Given the description of an element on the screen output the (x, y) to click on. 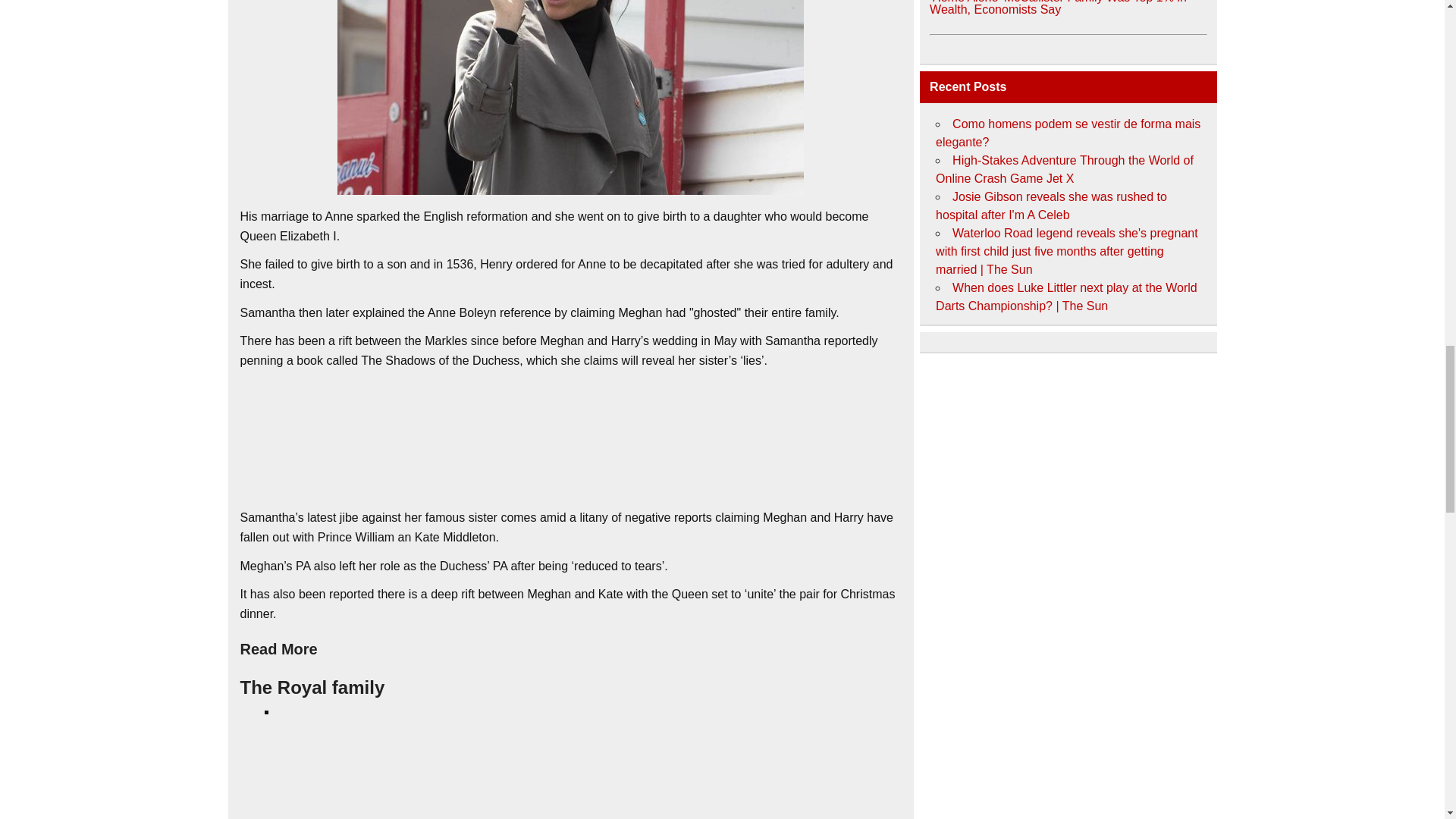
Como homens podem se vestir de forma mais elegante? (1067, 132)
